Given the description of an element on the screen output the (x, y) to click on. 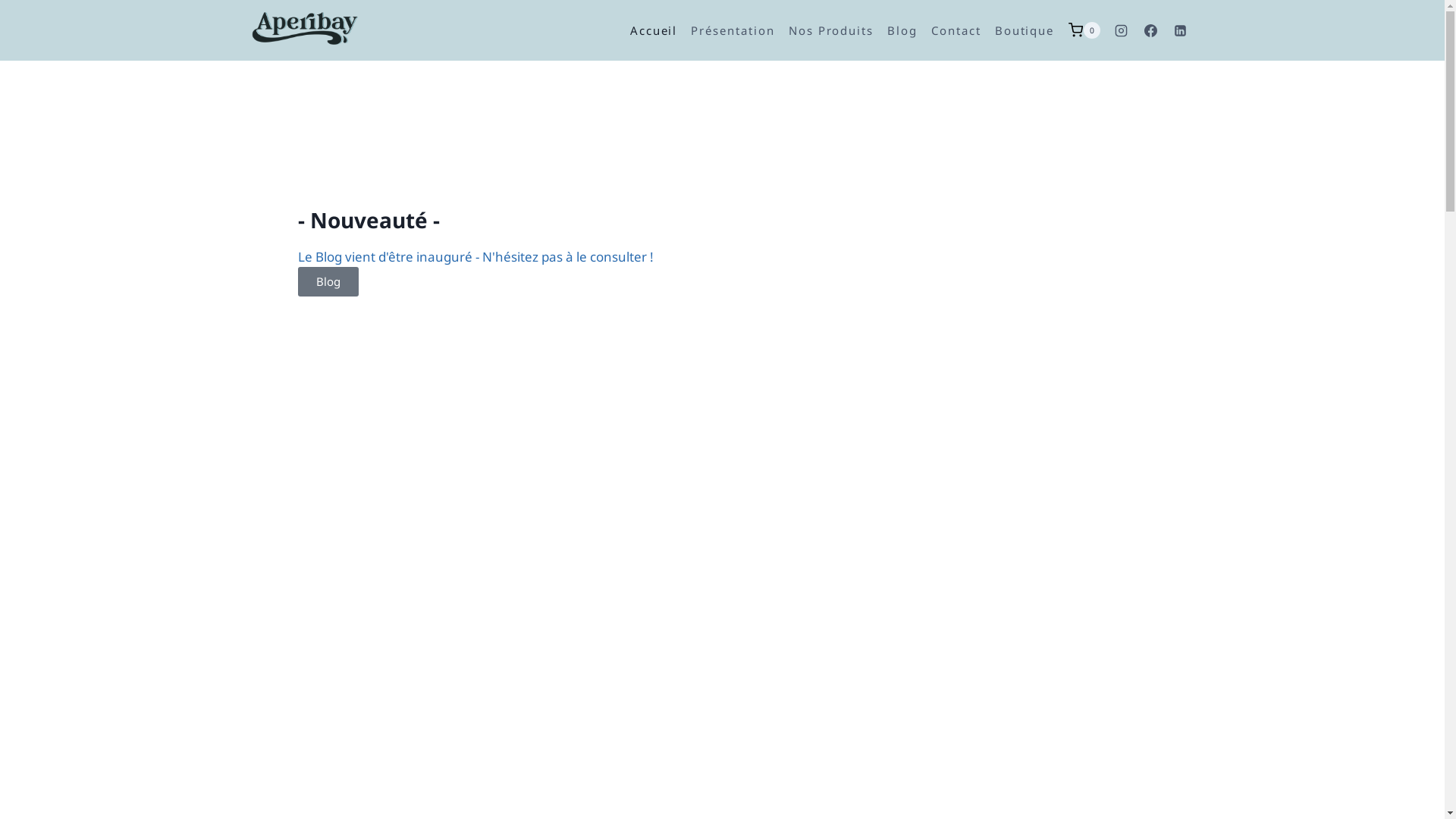
Nos Produits Element type: text (830, 30)
Accueil Element type: text (653, 30)
Contact Element type: text (956, 30)
0 Element type: text (1084, 29)
Blog Element type: text (902, 30)
Boutique Element type: text (1024, 30)
